Given the description of an element on the screen output the (x, y) to click on. 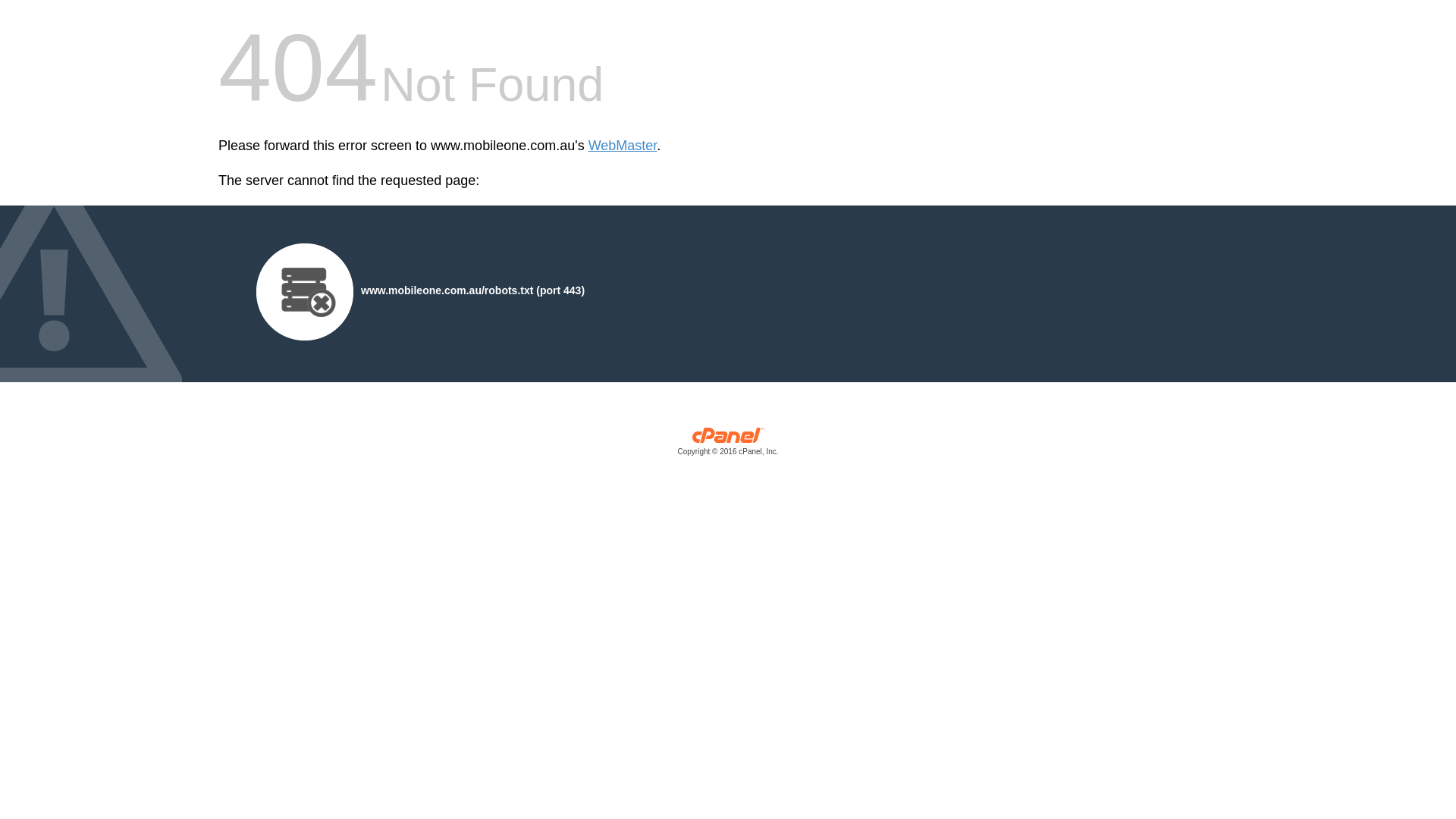
WebMaster Element type: text (622, 145)
